Given the description of an element on the screen output the (x, y) to click on. 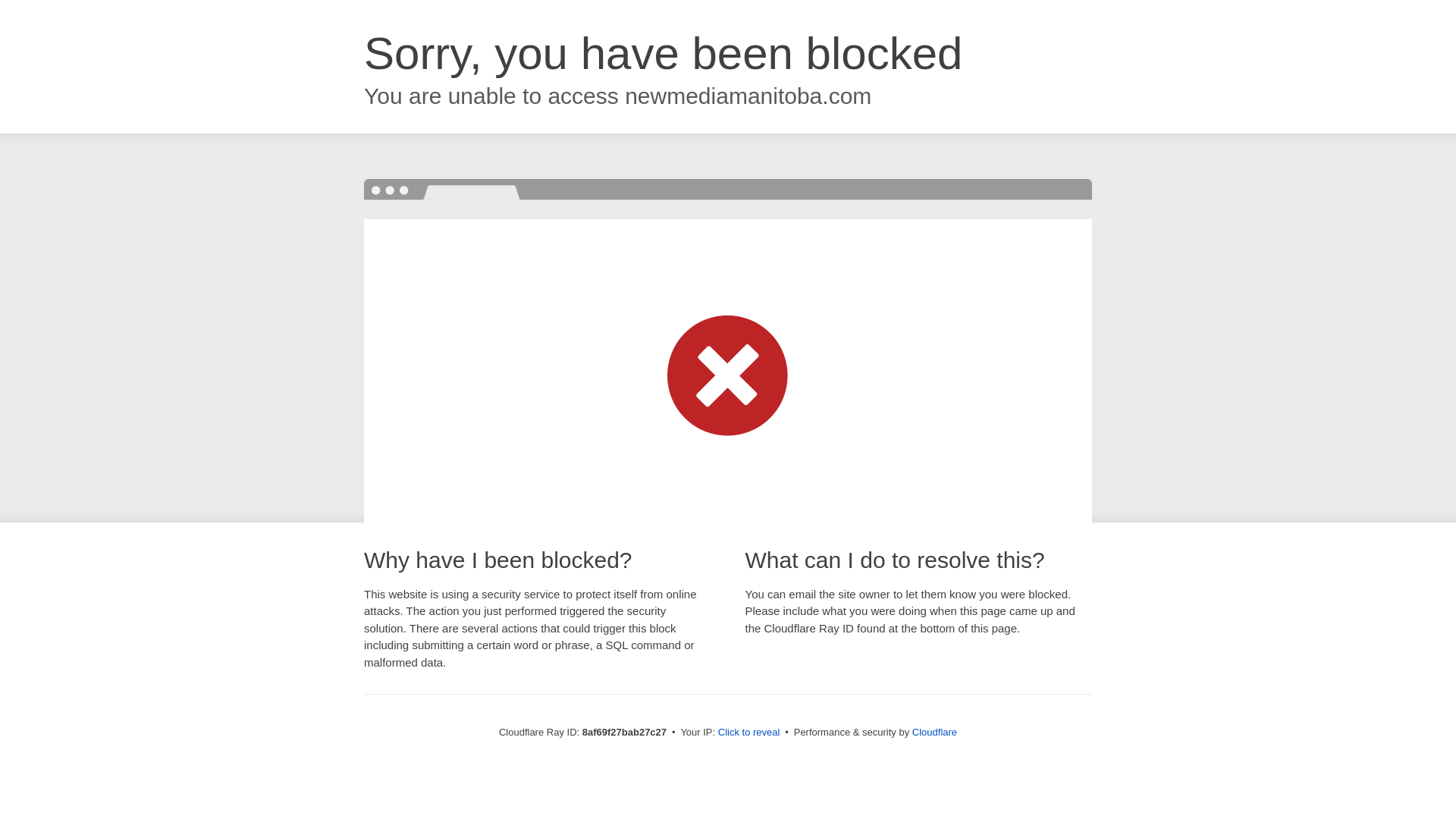
Cloudflare (934, 731)
Click to reveal (748, 732)
